Given the description of an element on the screen output the (x, y) to click on. 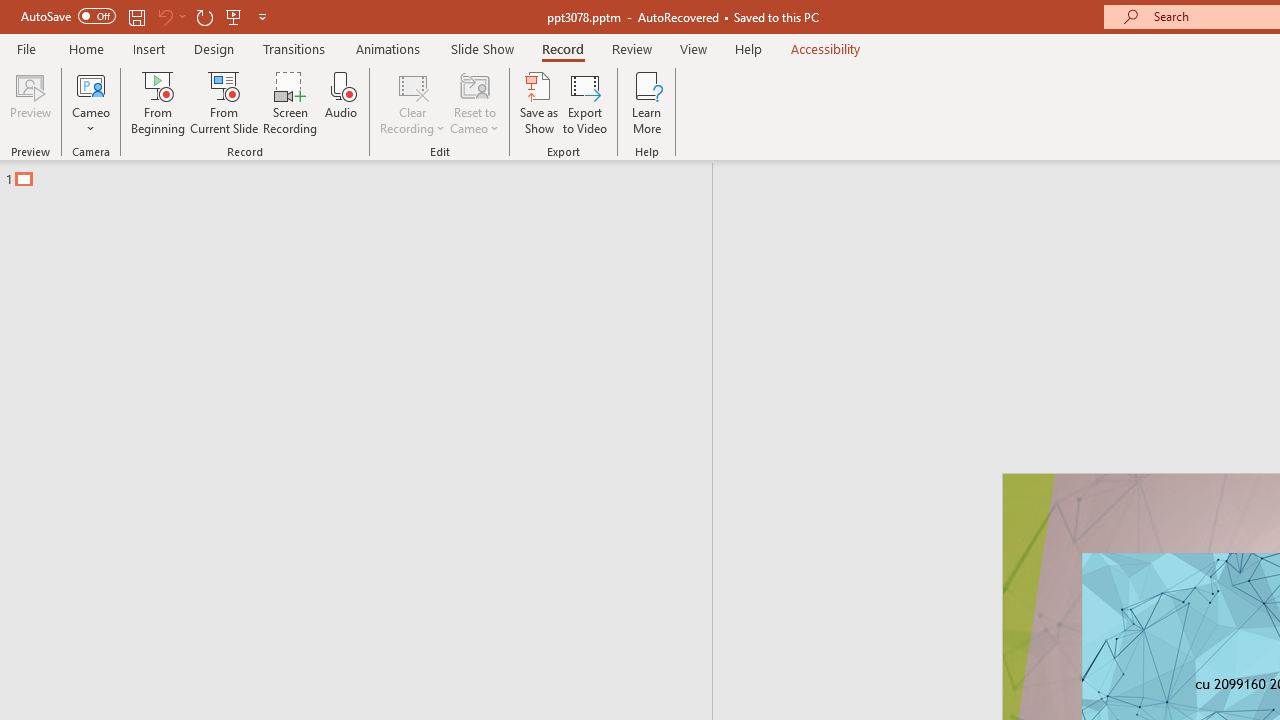
Visual Studio 2022 (57, 457)
Typora (287, 446)
Visual Studio Code (57, 591)
Blender 4.1 (287, 313)
CloudCompare (287, 180)
UGround_paper.pdf (1206, 47)
SJTUvpn (172, 446)
